Given the description of an element on the screen output the (x, y) to click on. 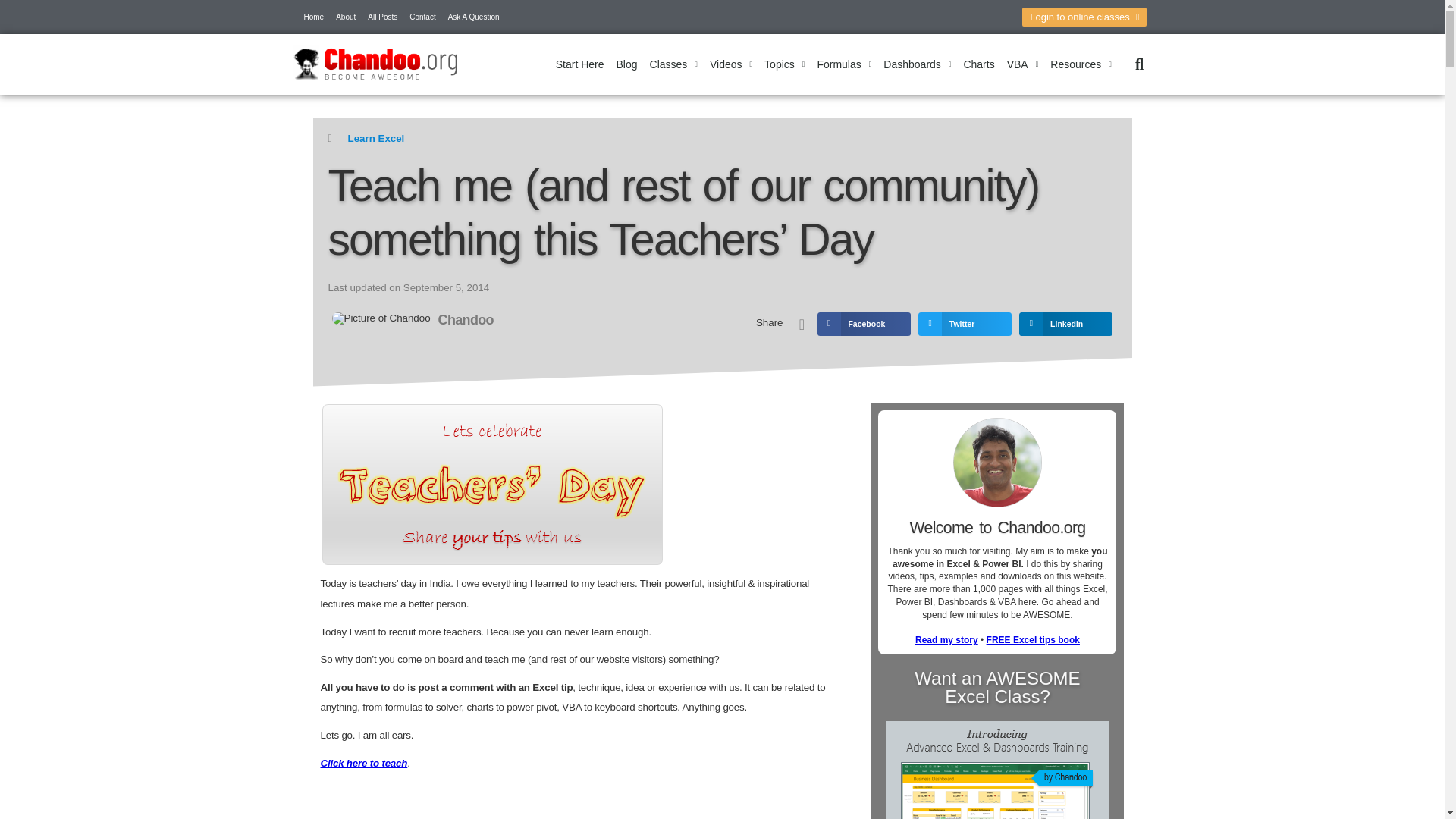
Blog (626, 64)
Home (313, 17)
Contact (422, 17)
Ask A Question (473, 17)
All Posts (382, 17)
Videos (730, 64)
About (345, 17)
Excel Dashboards (916, 64)
Start Here (580, 64)
Classes (673, 64)
